Given the description of an element on the screen output the (x, y) to click on. 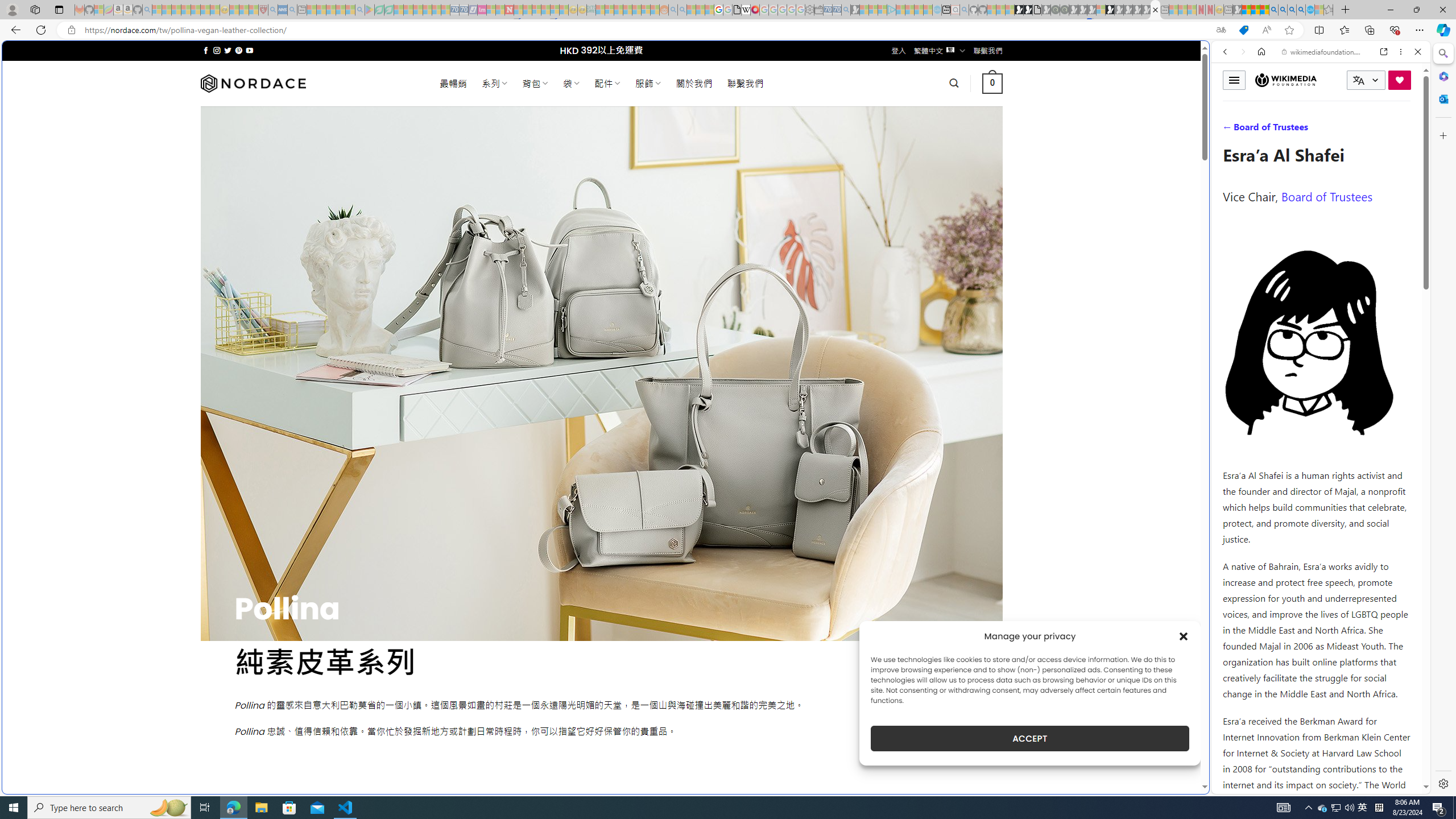
Follow on Twitter (227, 50)
Donate now (1399, 80)
